Given the description of an element on the screen output the (x, y) to click on. 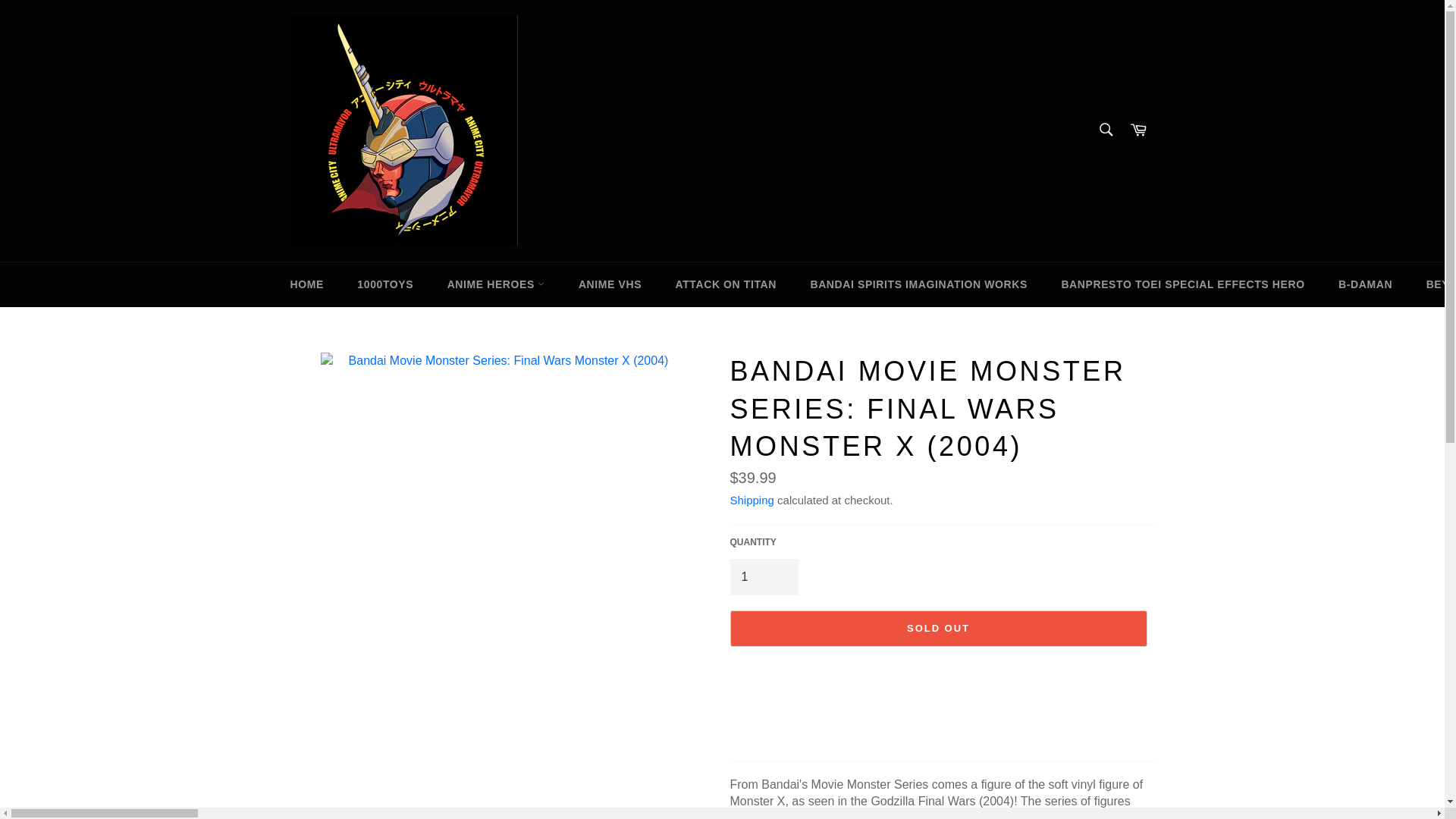
1 (763, 576)
